Given the description of an element on the screen output the (x, y) to click on. 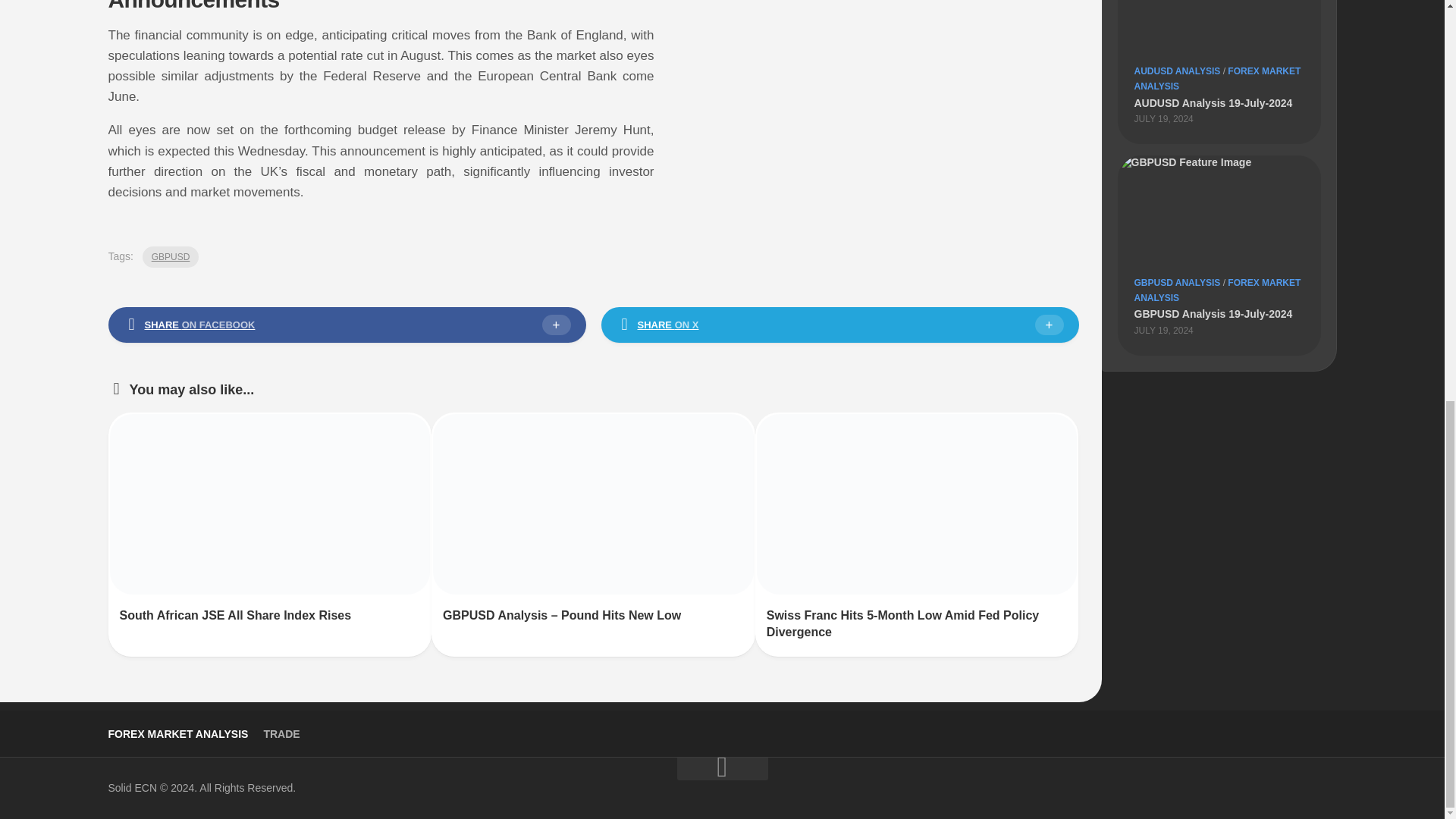
Swiss Franc Hits 5-Month Low Amid Fed Policy Divergence (903, 623)
South African JSE All Share Index Rises (235, 615)
GBPUSD (170, 256)
SHARE ON FACEBOOK (346, 325)
SHARE ON X (838, 325)
